Given the description of an element on the screen output the (x, y) to click on. 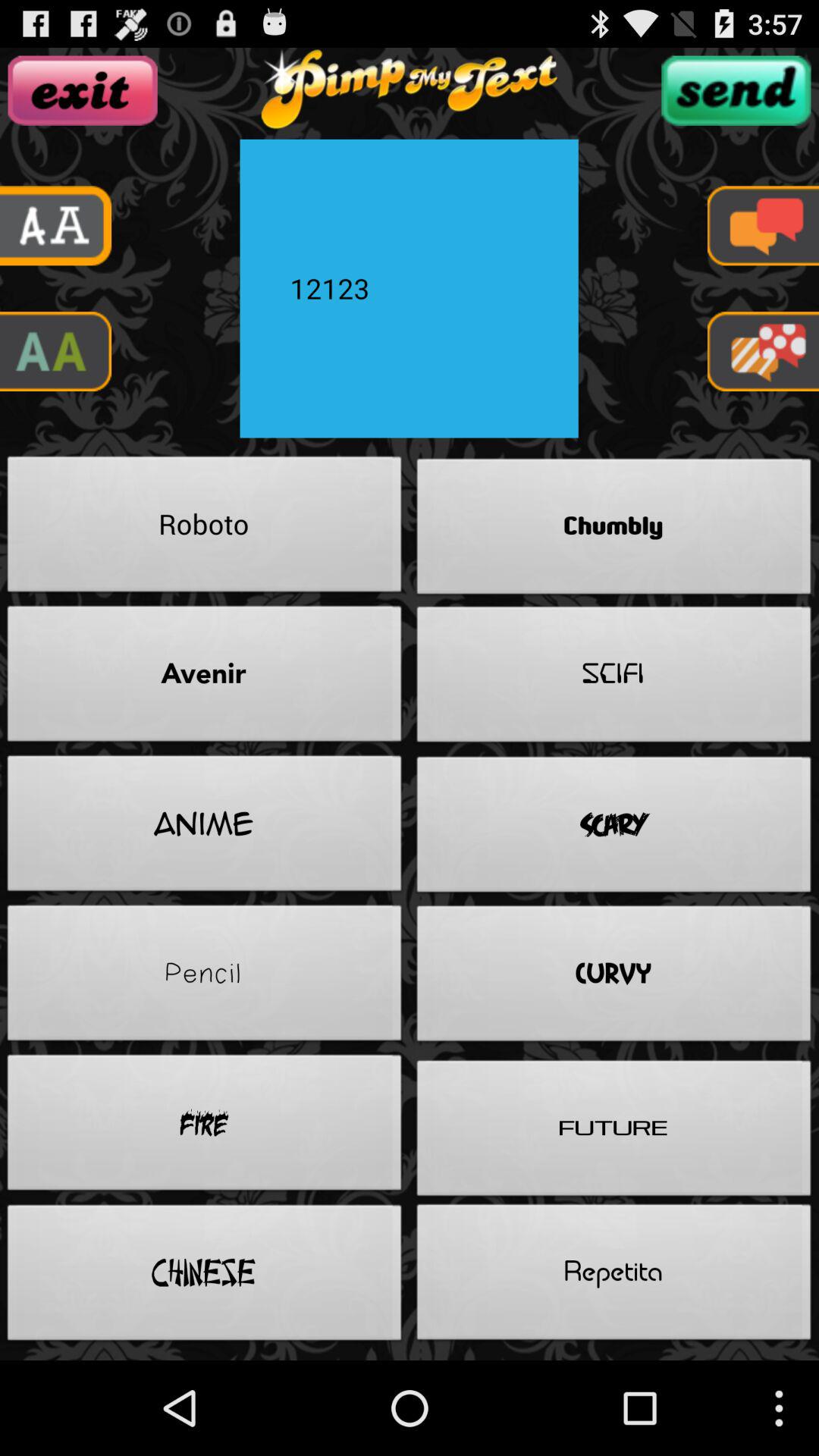
click exit (82, 90)
